Given the description of an element on the screen output the (x, y) to click on. 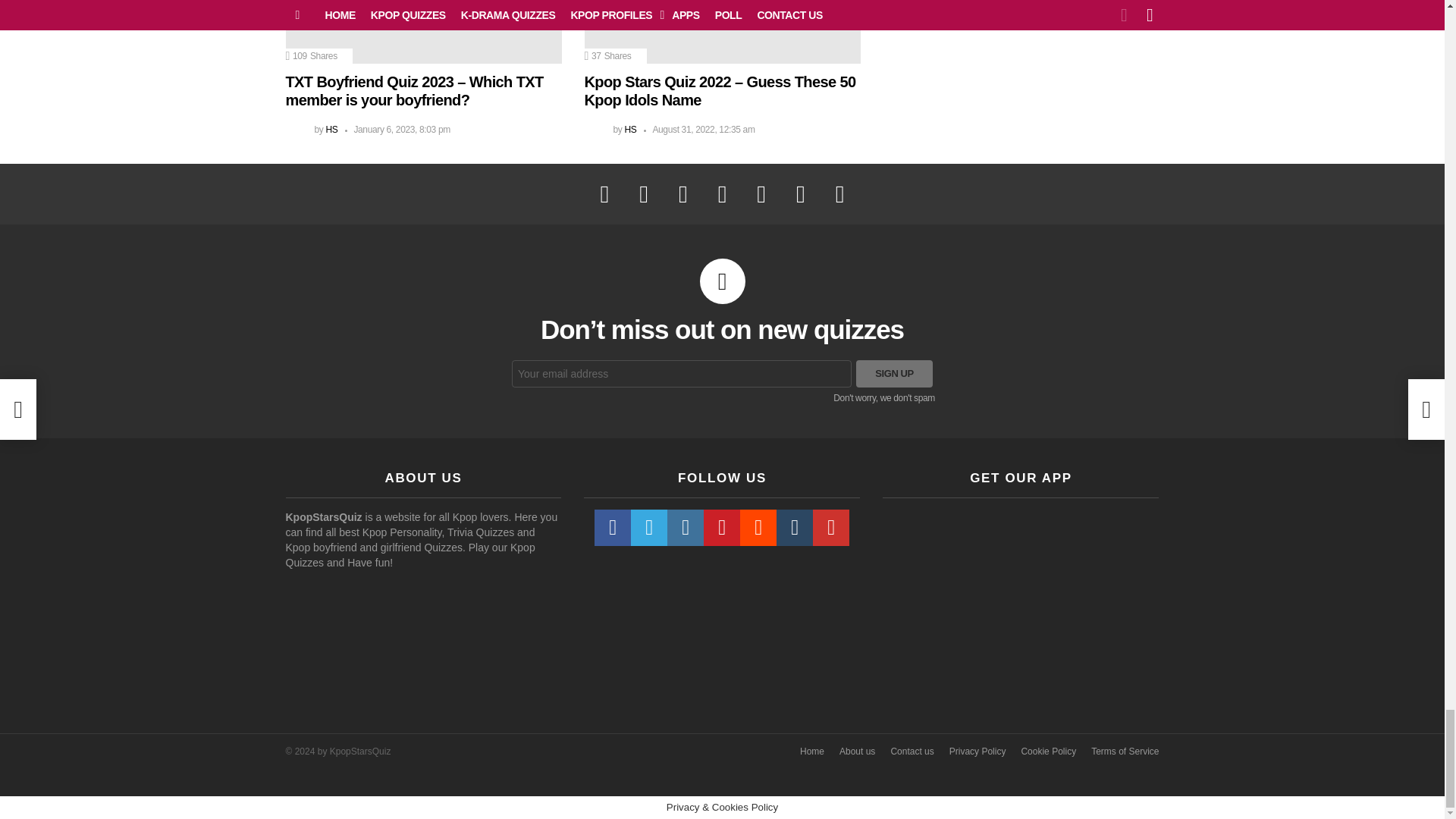
Sign up (894, 373)
